Given the description of an element on the screen output the (x, y) to click on. 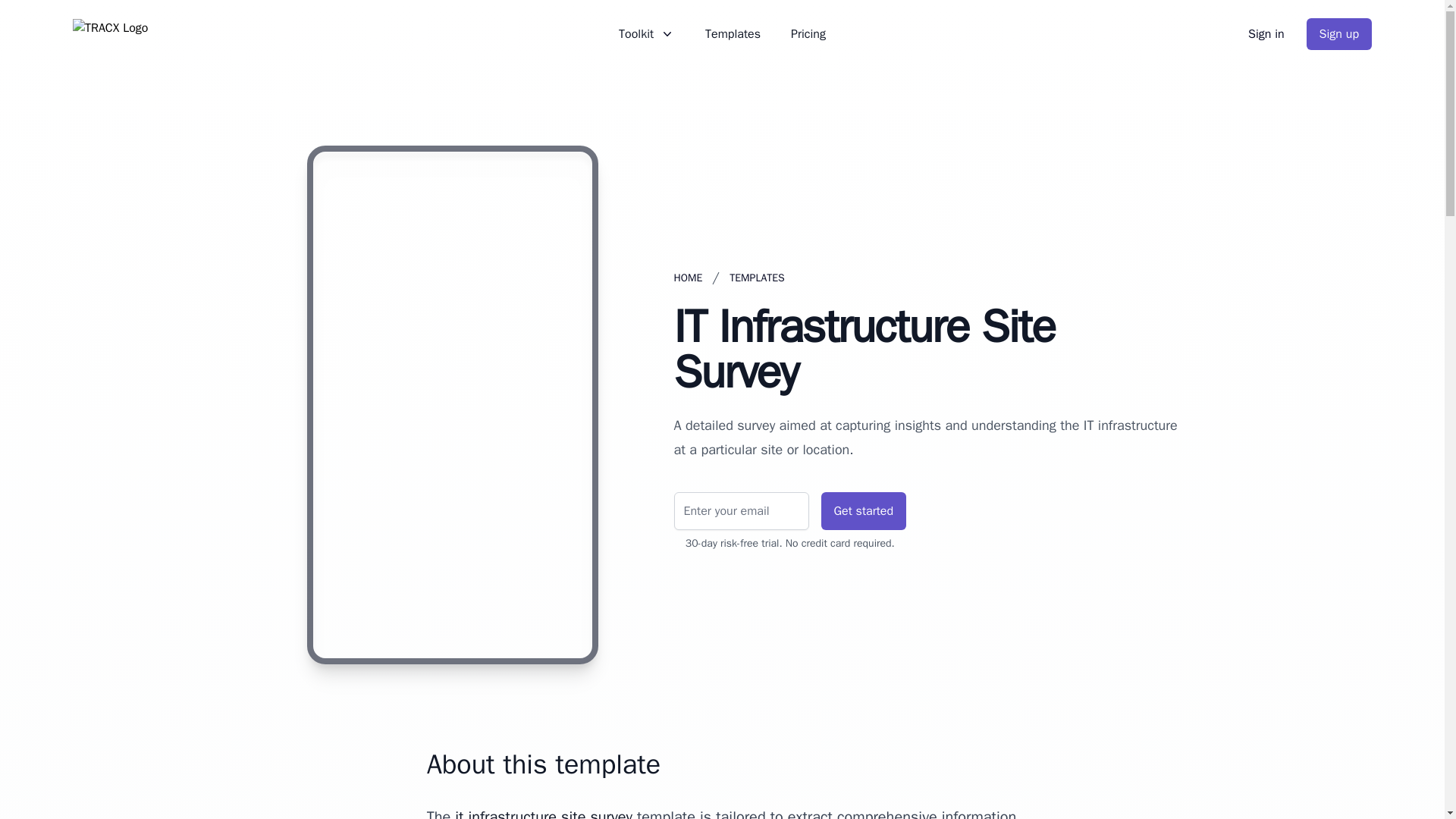
Sign up (1338, 33)
Get started (863, 510)
Sign in (1265, 33)
Pricing (807, 34)
TRACX (110, 33)
HOME (686, 277)
TEMPLATES (756, 278)
Templates (732, 34)
Toolkit (646, 34)
